Given the description of an element on the screen output the (x, y) to click on. 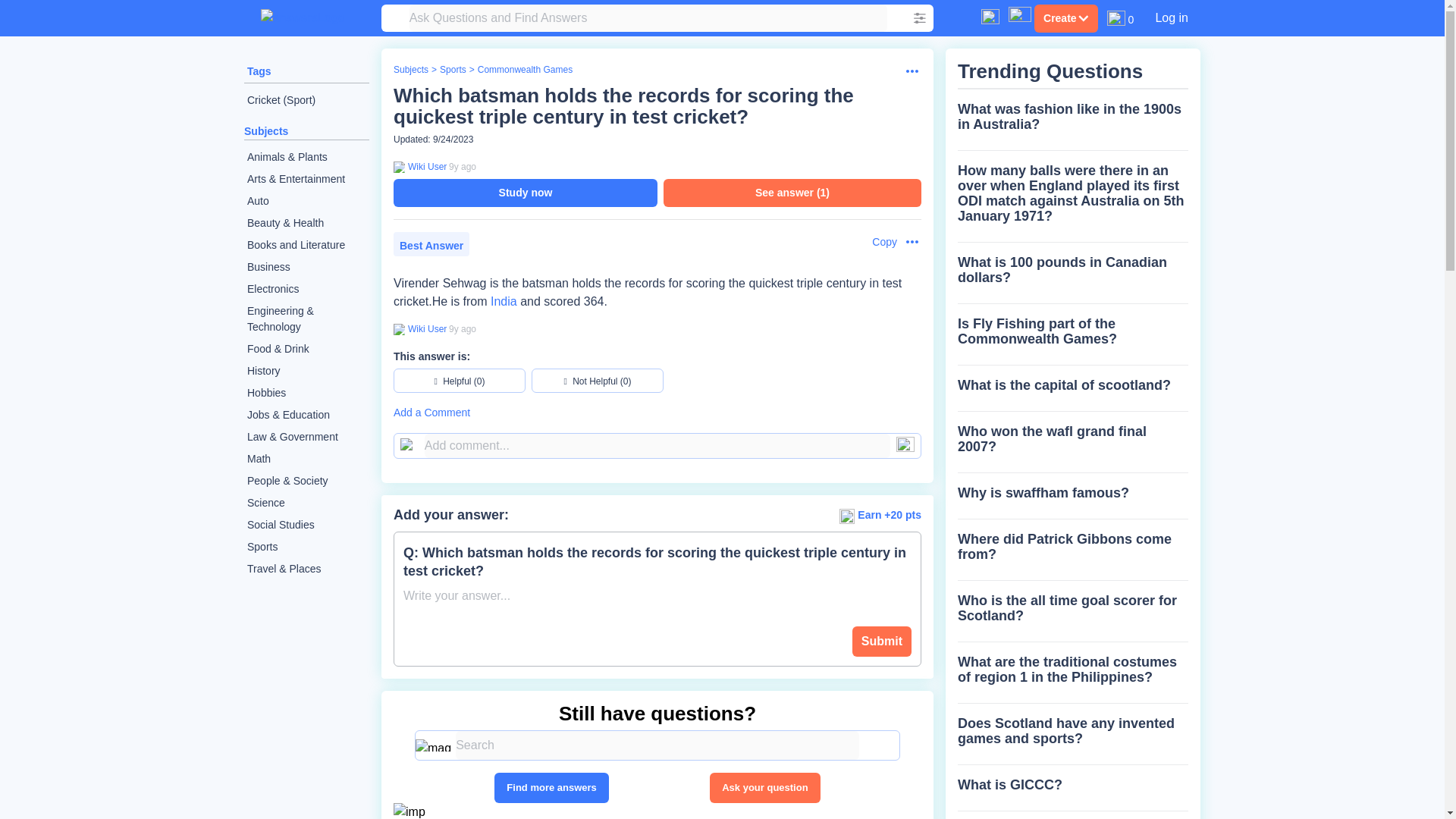
Study now (525, 193)
Wiki User (425, 328)
Business (306, 267)
Math (306, 458)
Books and Literature (306, 245)
Wiki User (425, 166)
Science (306, 503)
Tags (258, 70)
India (503, 300)
